Given the description of an element on the screen output the (x, y) to click on. 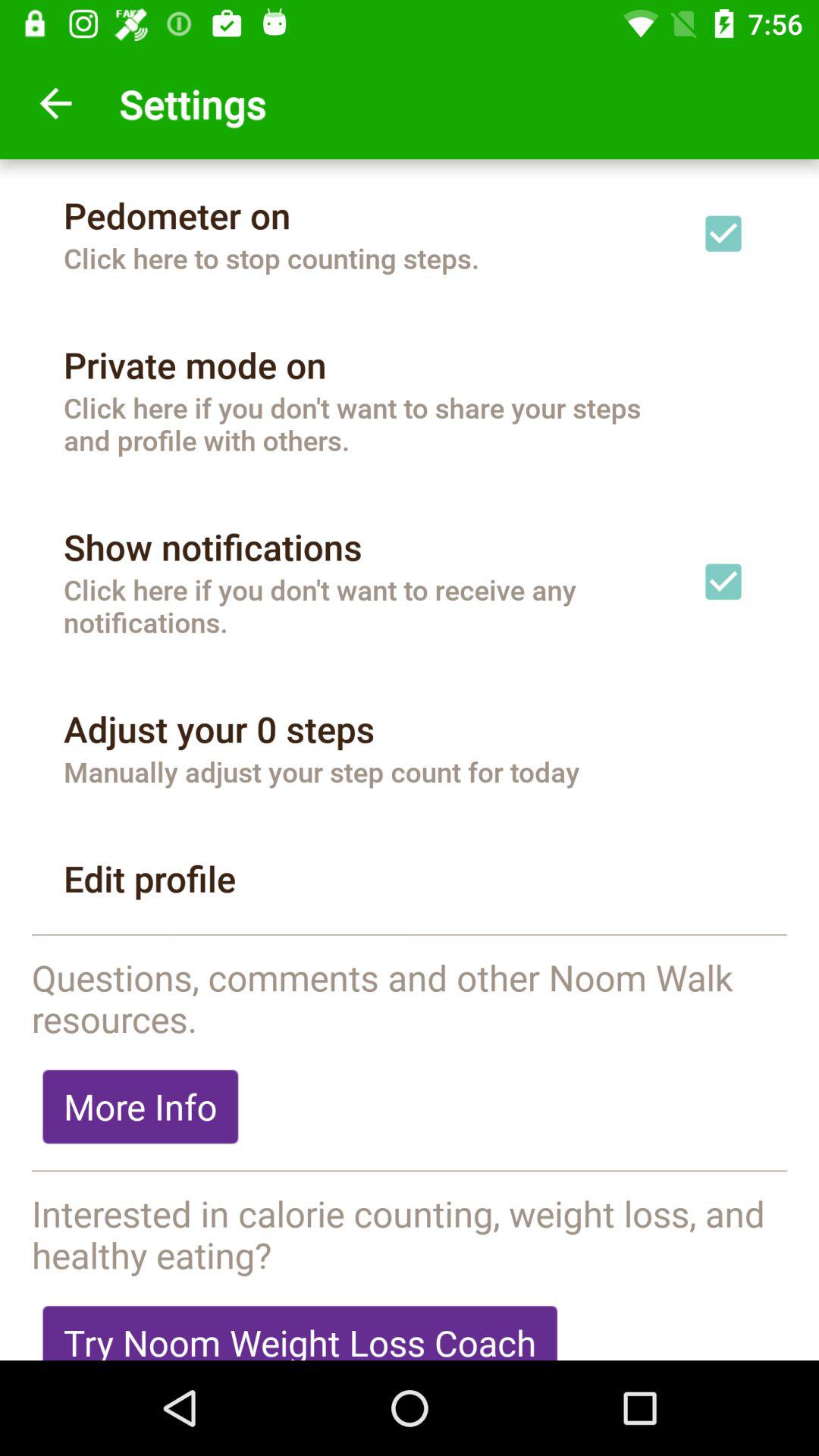
open try noom weight icon (299, 1327)
